Given the description of an element on the screen output the (x, y) to click on. 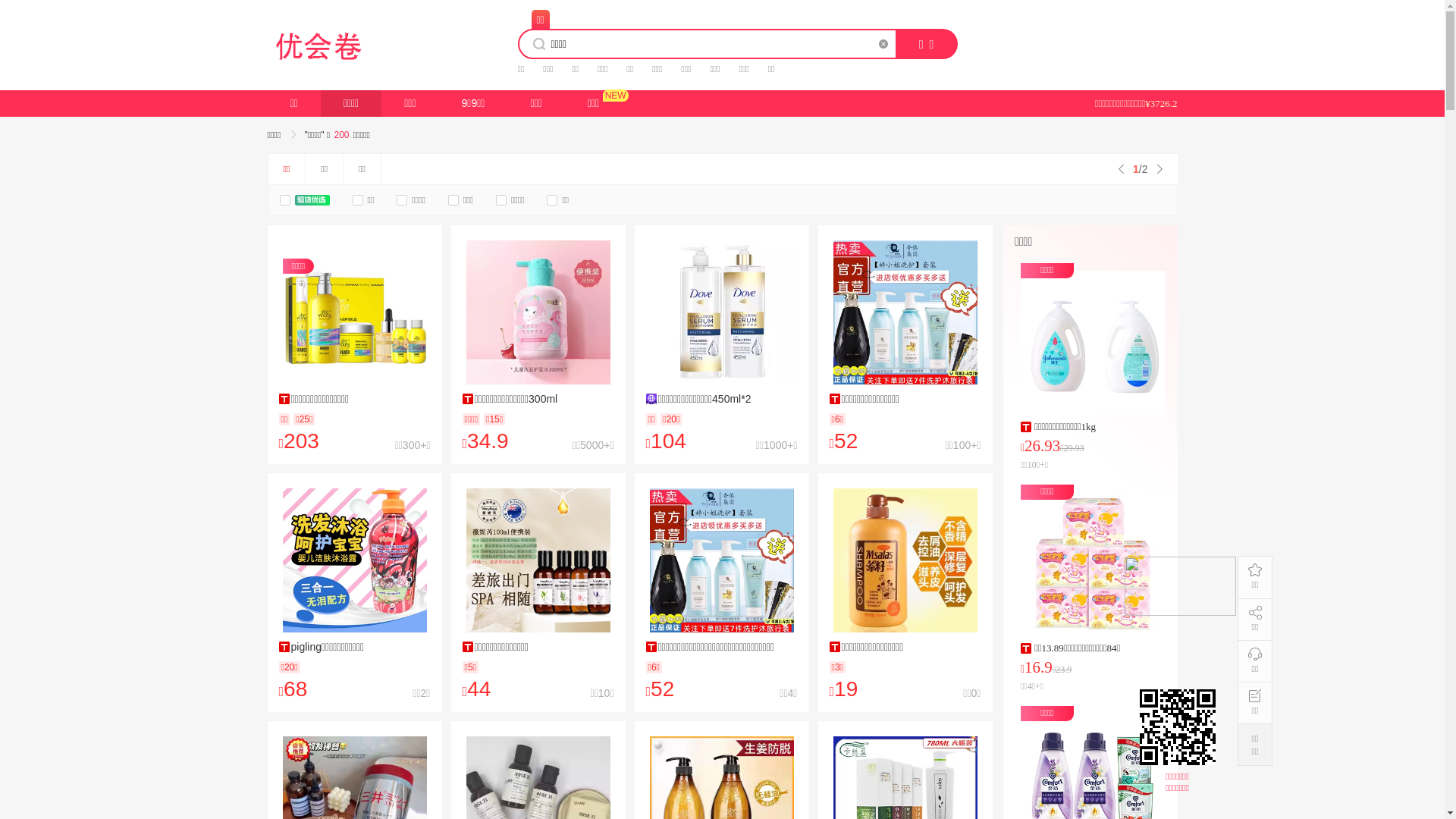
http://18wa.com Element type: hover (1179, 727)
